Given the description of an element on the screen output the (x, y) to click on. 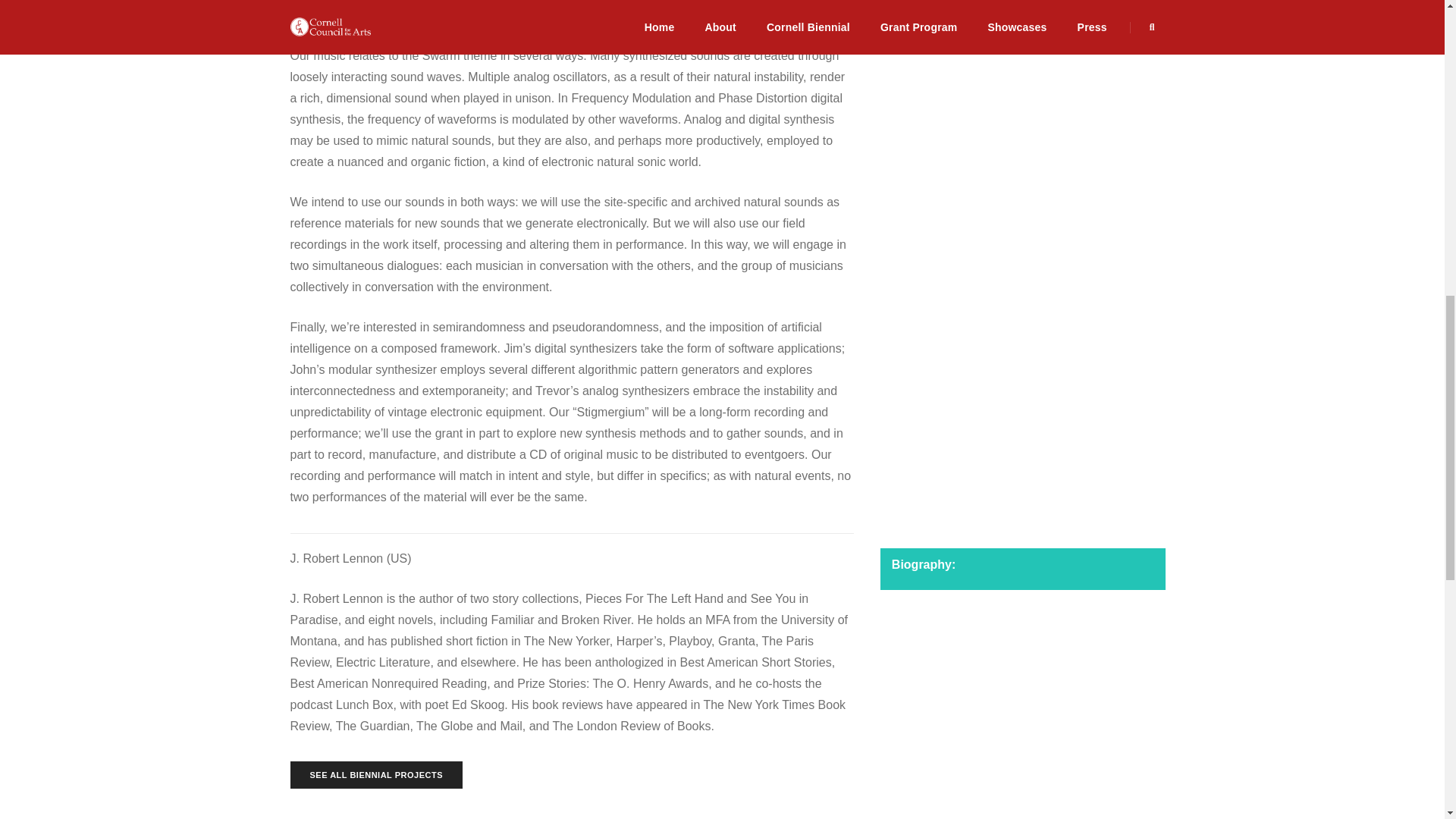
SEE ALL BIENNIAL PROJECTS (376, 774)
